Given the description of an element on the screen output the (x, y) to click on. 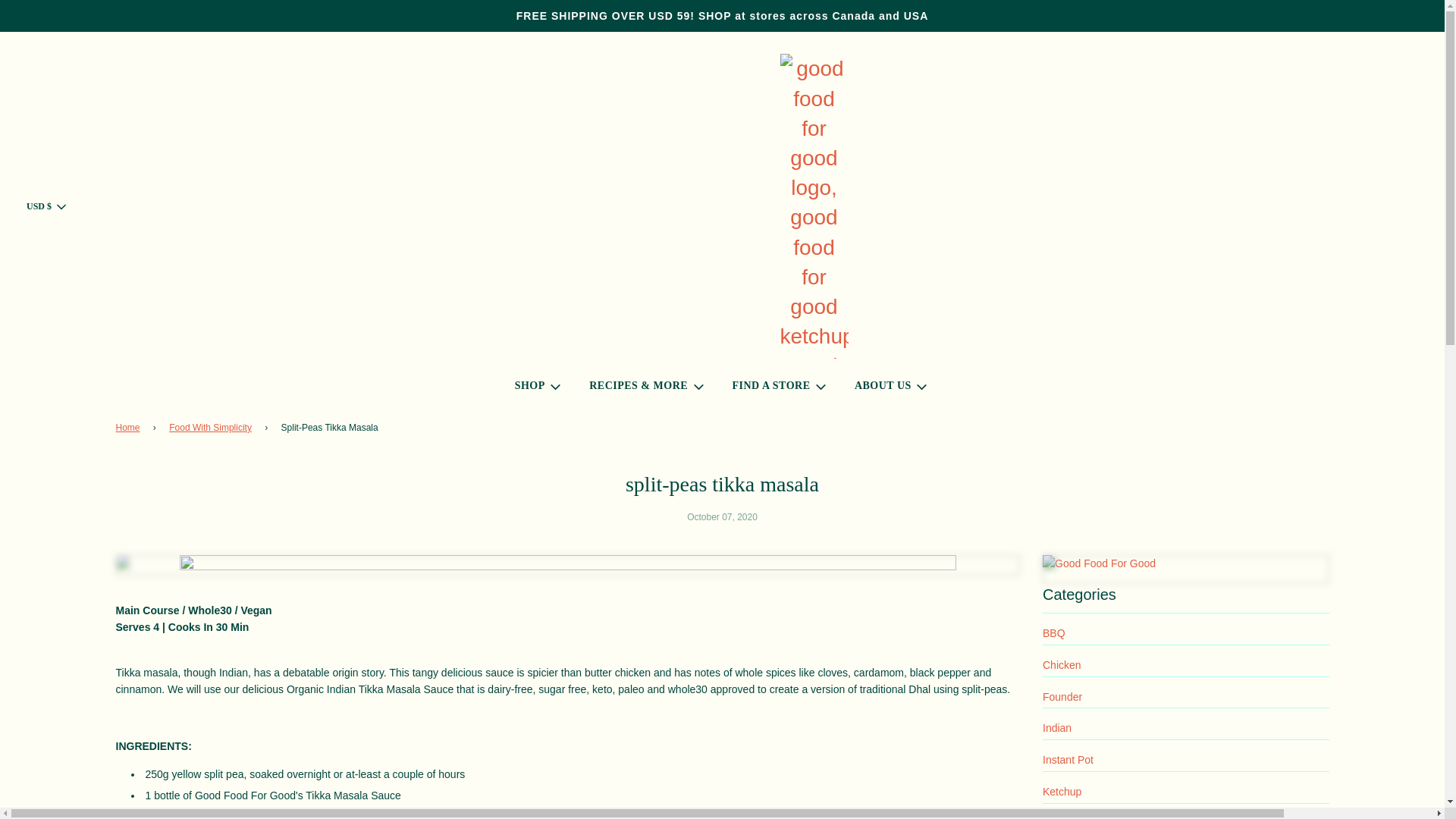
Show articles tagged Founder (1061, 696)
Show articles tagged Ketchup (1061, 791)
Back to the frontpage (129, 427)
Show articles tagged Keto (1053, 818)
Show articles tagged Chicken (1061, 664)
Show articles tagged BBQ (1053, 633)
Show articles tagged Indian (1056, 727)
Show articles tagged Instant Pot (1067, 759)
